Given the description of an element on the screen output the (x, y) to click on. 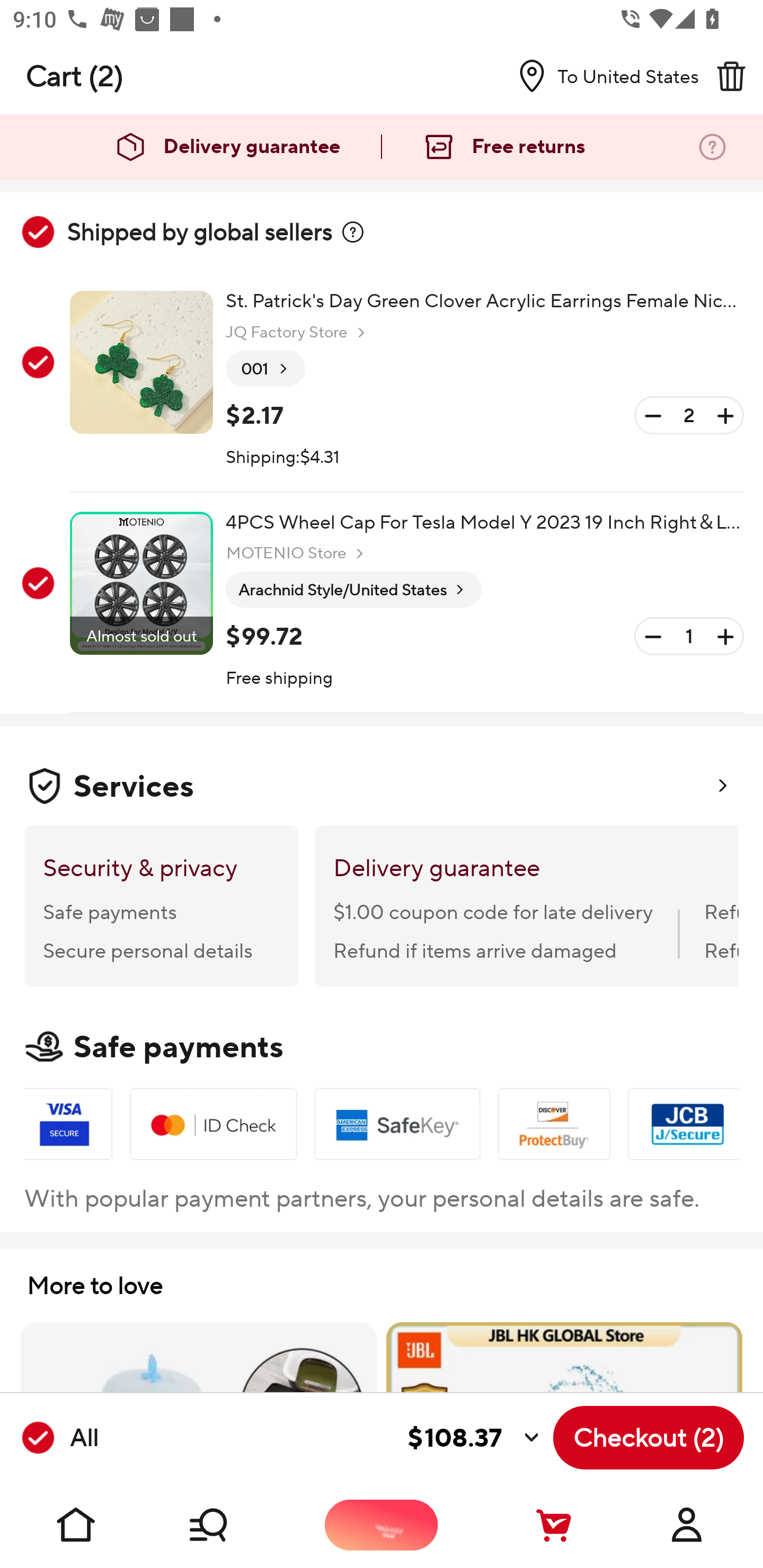
 To United States (601, 75)
 (730, 75)
 (352, 231)
JQ Factory Store (297, 333)
001 (265, 369)
2 (688, 415)
MOTENIO Store (296, 553)
Arachnid Style/United States (353, 590)
1 (688, 636)
$_108.37  (324, 1437)
Checkout (2) (648, 1437)
Home (76, 1524)
Shop (228, 1524)
Account (686, 1524)
